Given the description of an element on the screen output the (x, y) to click on. 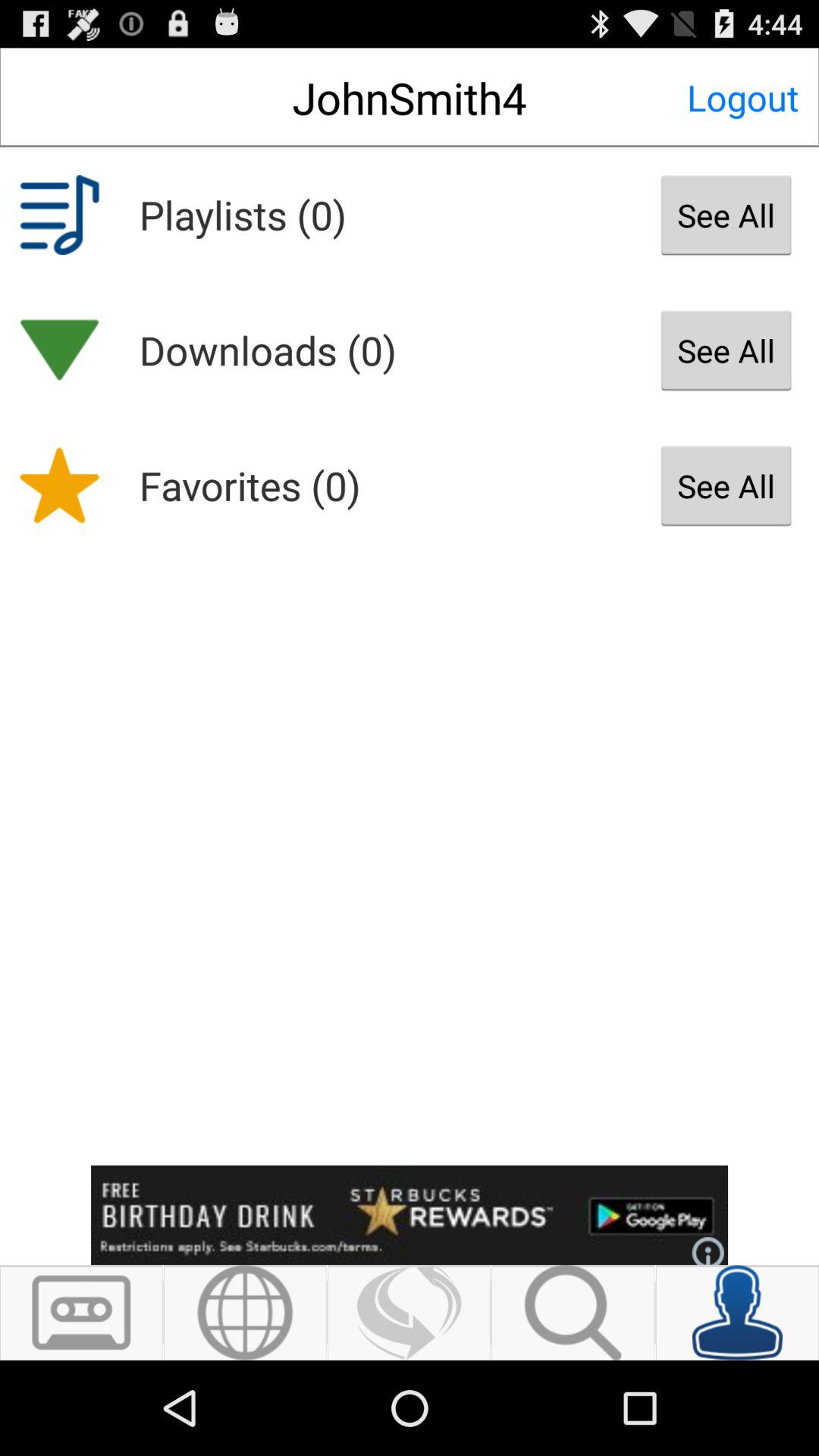
click advertisement (409, 1214)
